Given the description of an element on the screen output the (x, y) to click on. 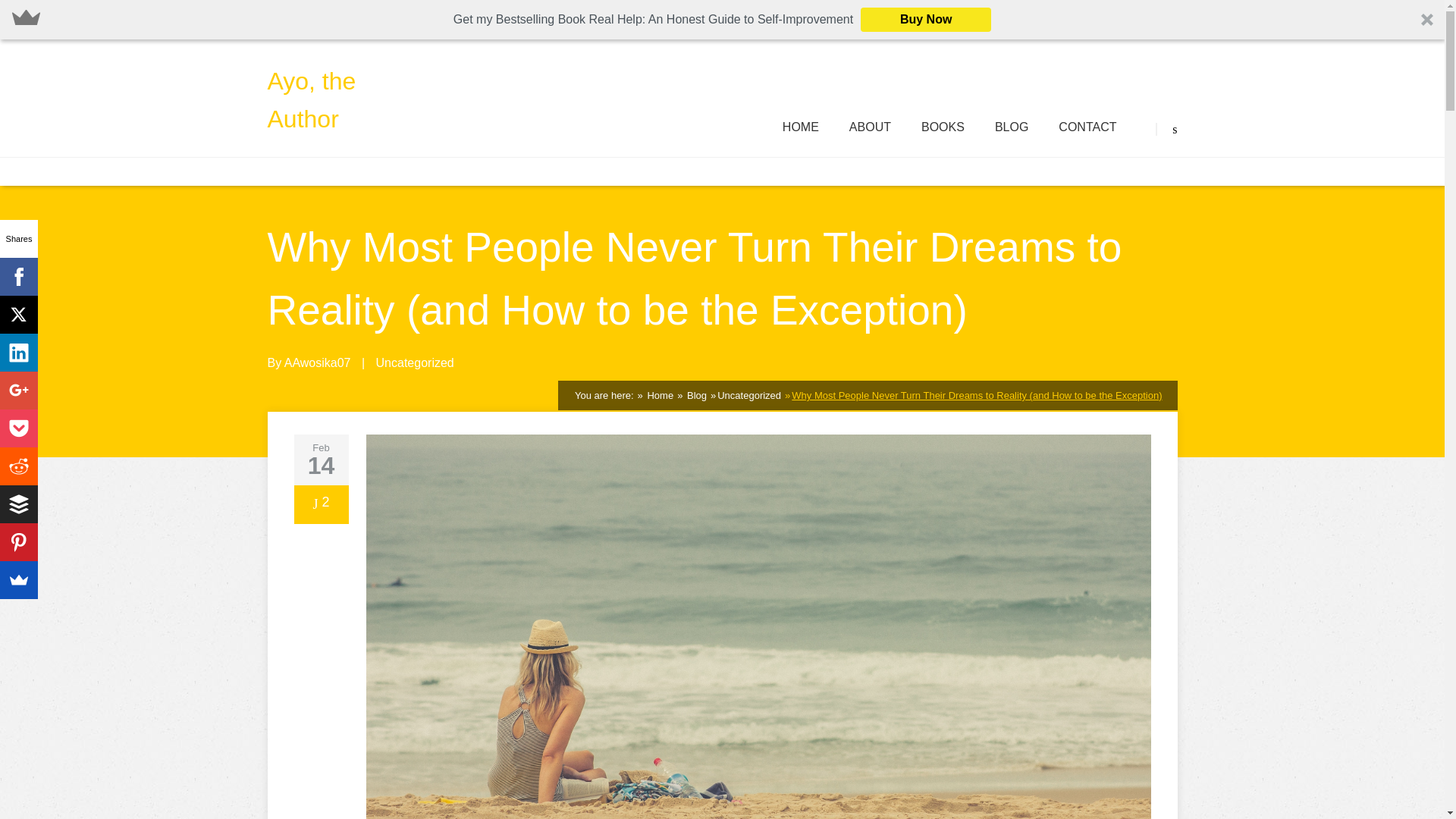
Uncategorized (748, 395)
CONTACT (1087, 127)
SumoMe (18, 579)
Uncategorized (414, 362)
Home (658, 395)
Ayo, the Author (342, 100)
Buffer (18, 504)
AAwosika07 (316, 362)
BLOG (1010, 127)
BOOKS (942, 127)
ABOUT (869, 127)
Pinterest (18, 542)
Buy Now (925, 19)
Blog (695, 395)
LinkedIn (18, 352)
